Given the description of an element on the screen output the (x, y) to click on. 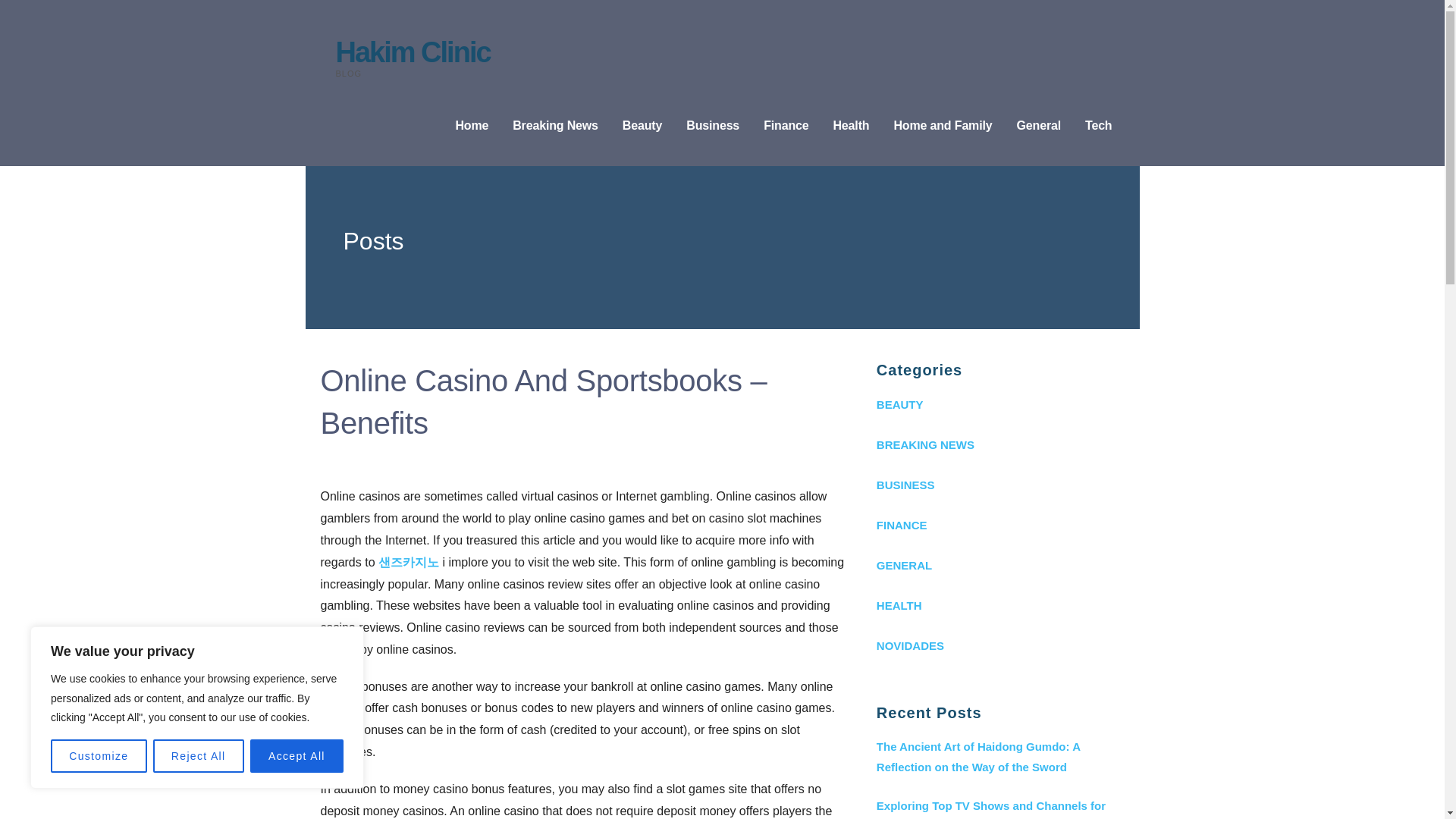
Beauty (642, 126)
FINANCE (1000, 525)
BUSINESS (1000, 485)
GENERAL (1000, 565)
Hakim Clinic (411, 51)
Accept All (296, 756)
General (1037, 126)
Breaking News (555, 126)
Home (470, 126)
BREAKING NEWS (1000, 445)
Business (712, 126)
BEAUTY (1000, 404)
Home and Family (942, 126)
Health (850, 126)
Finance (785, 126)
